Given the description of an element on the screen output the (x, y) to click on. 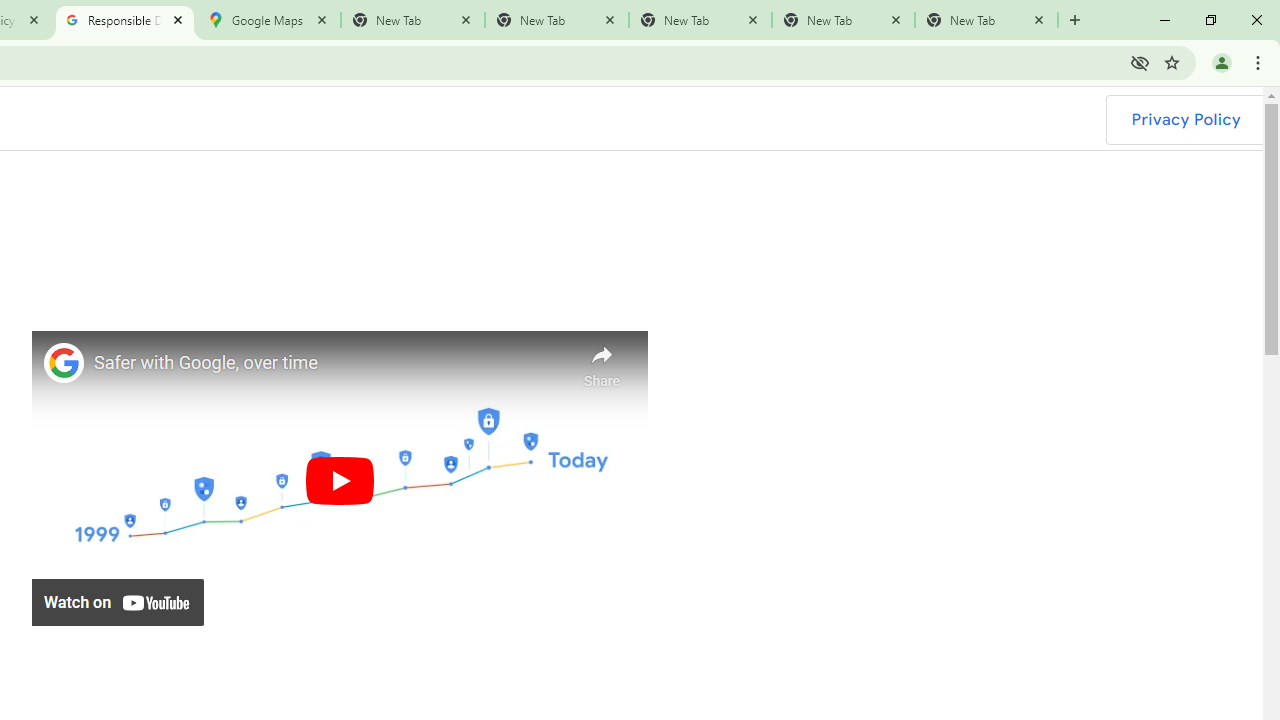
Chrome (1260, 62)
New Tab (986, 20)
Safer with Google, over time (330, 363)
Minimize (1165, 20)
Bookmark this tab (1171, 62)
You (1221, 62)
Close (1039, 19)
Share (601, 361)
Privacy Policy (1185, 119)
Watch on YouTube (118, 601)
Restore (1210, 20)
New Tab (1075, 20)
Play (339, 480)
